Given the description of an element on the screen output the (x, y) to click on. 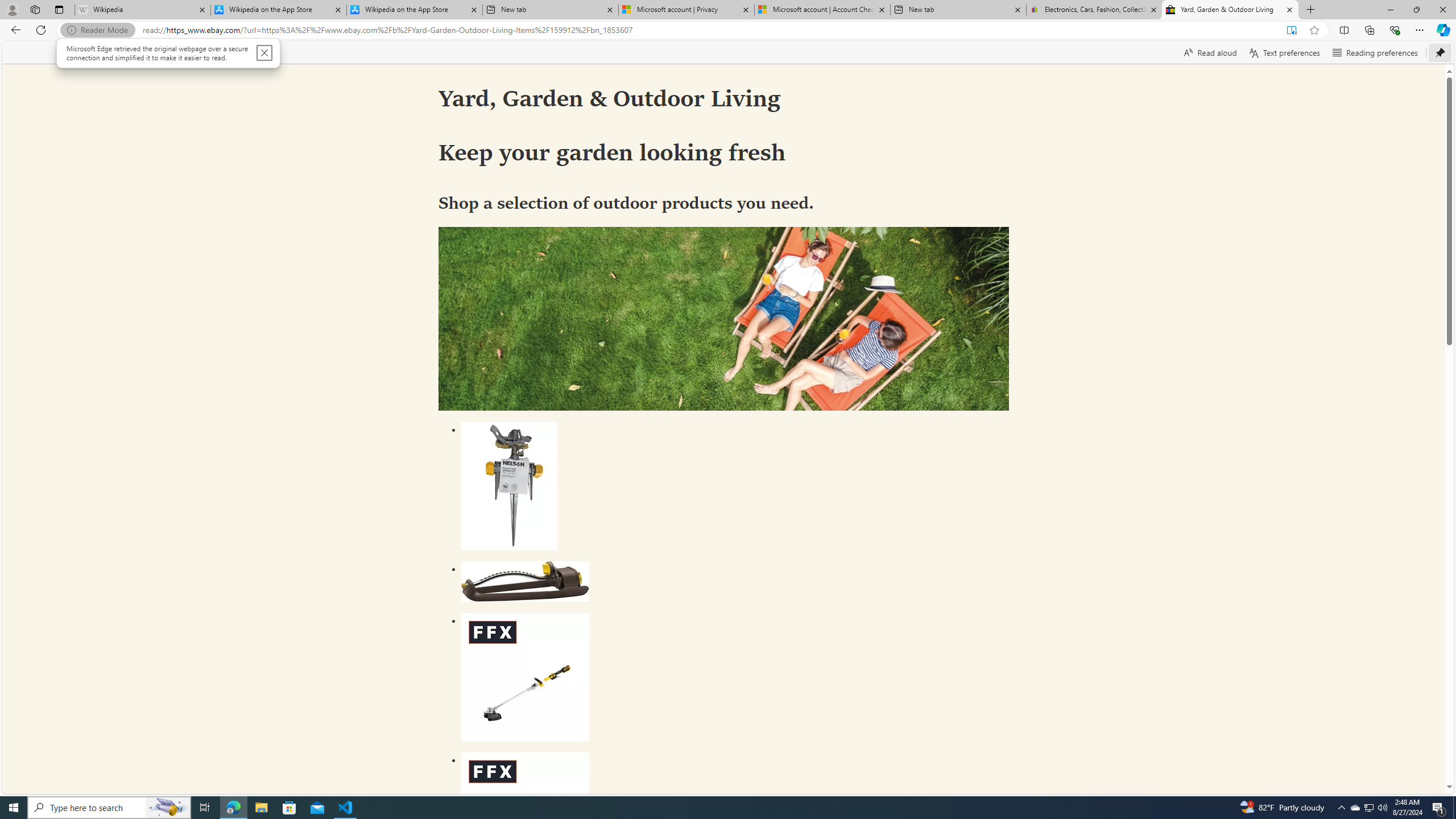
Running applications (717, 807)
